Given the description of an element on the screen output the (x, y) to click on. 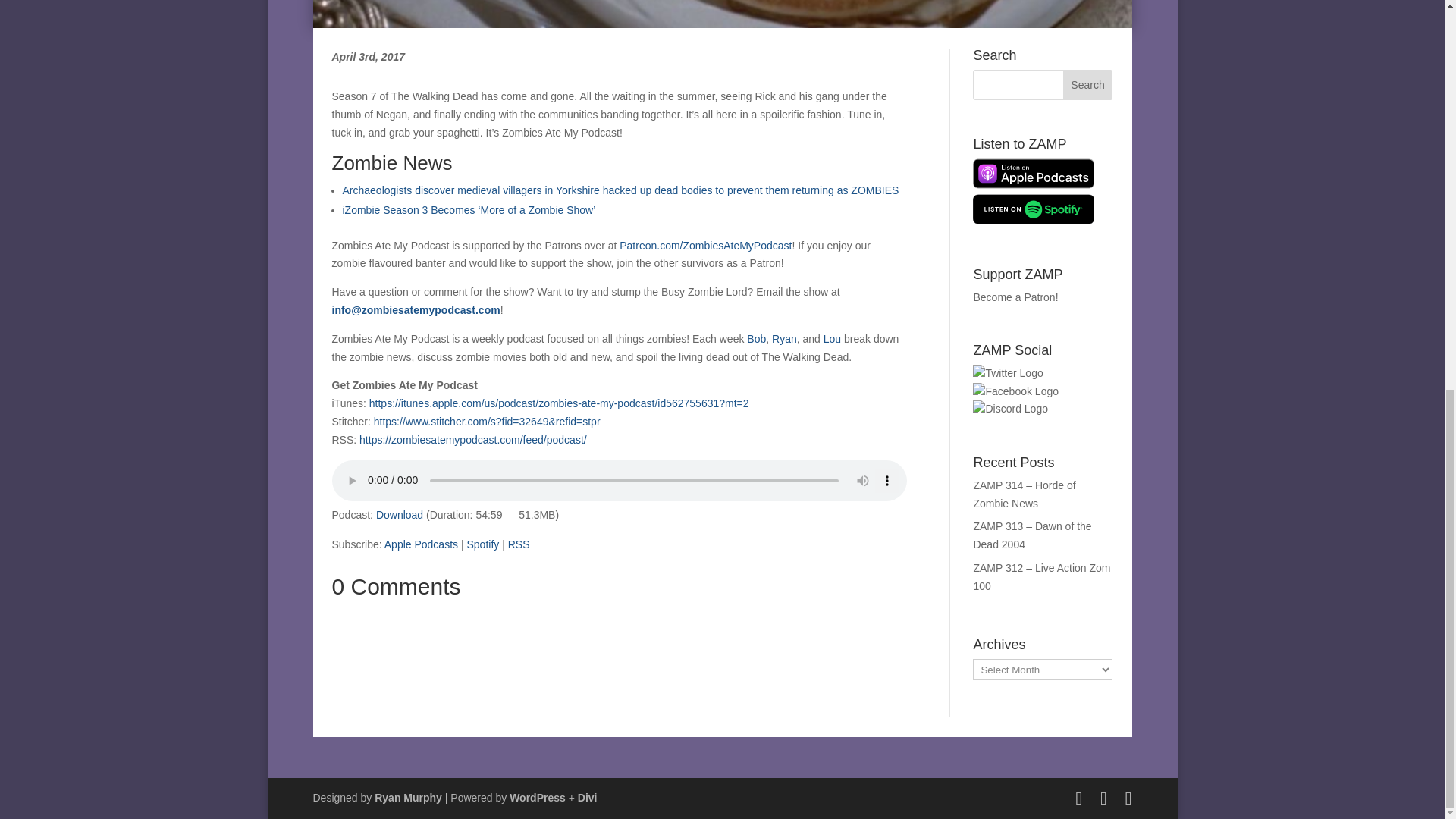
Download (399, 514)
WordPress (537, 797)
Spotify (482, 544)
Subscribe on Spotify (482, 544)
Subscribe on Apple Podcasts (421, 544)
Lou (832, 338)
Search (1087, 84)
Ryan Murphy (408, 797)
RSS (518, 544)
